Given the description of an element on the screen output the (x, y) to click on. 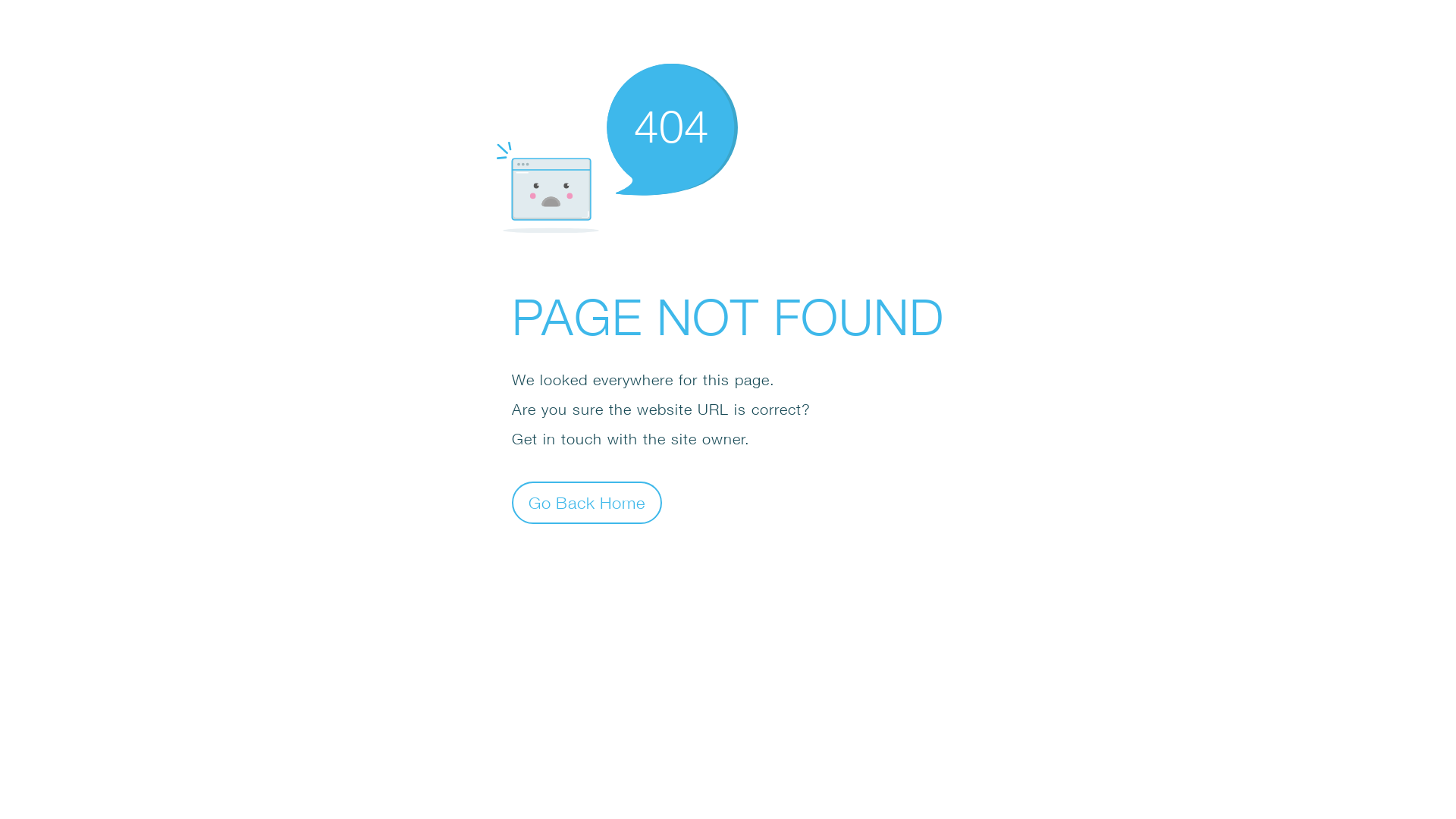
Go Back Home Element type: text (586, 502)
